Given the description of an element on the screen output the (x, y) to click on. 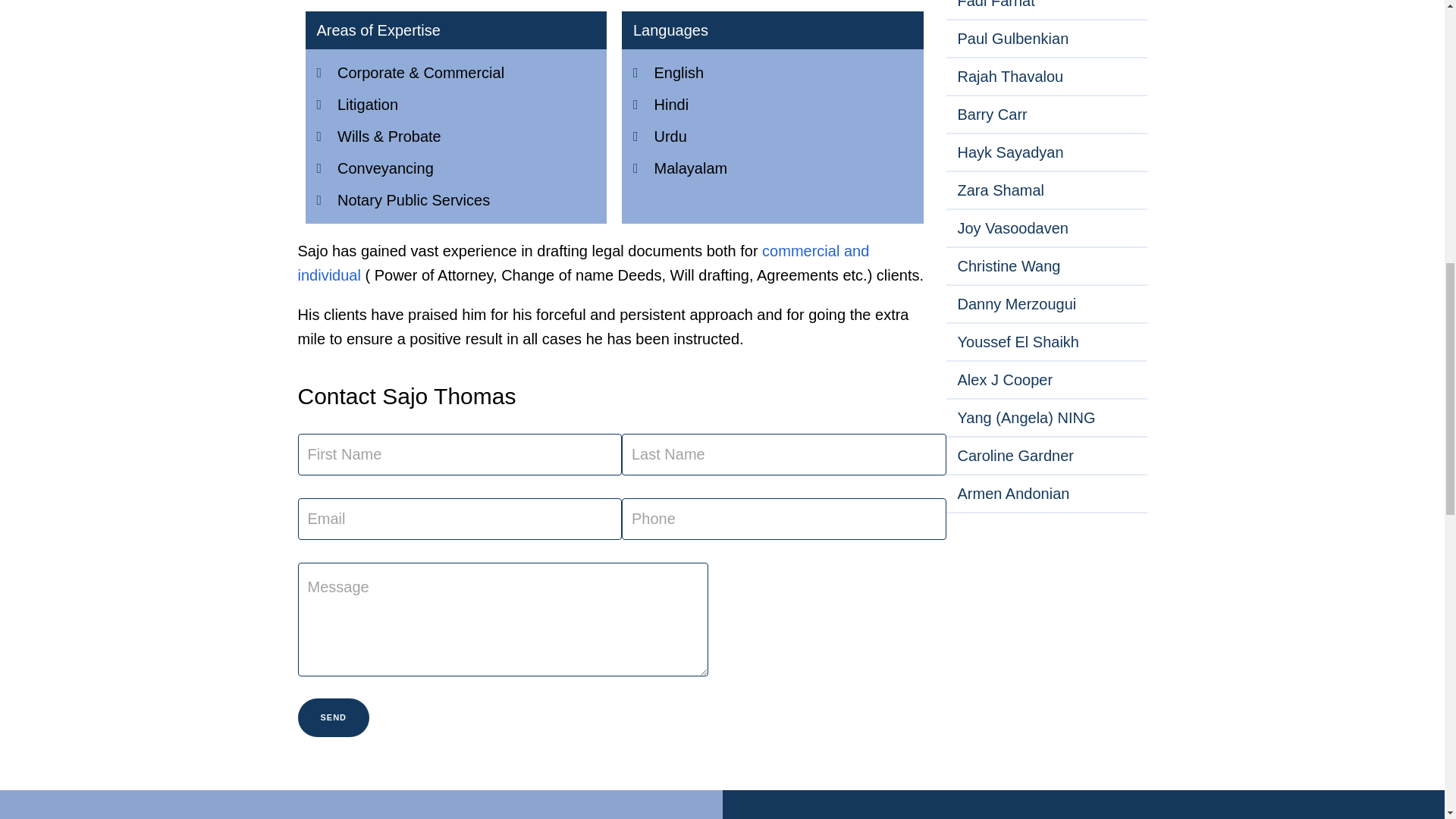
commercial and individual (583, 262)
Send (333, 717)
commercial and individual (583, 262)
